Given the description of an element on the screen output the (x, y) to click on. 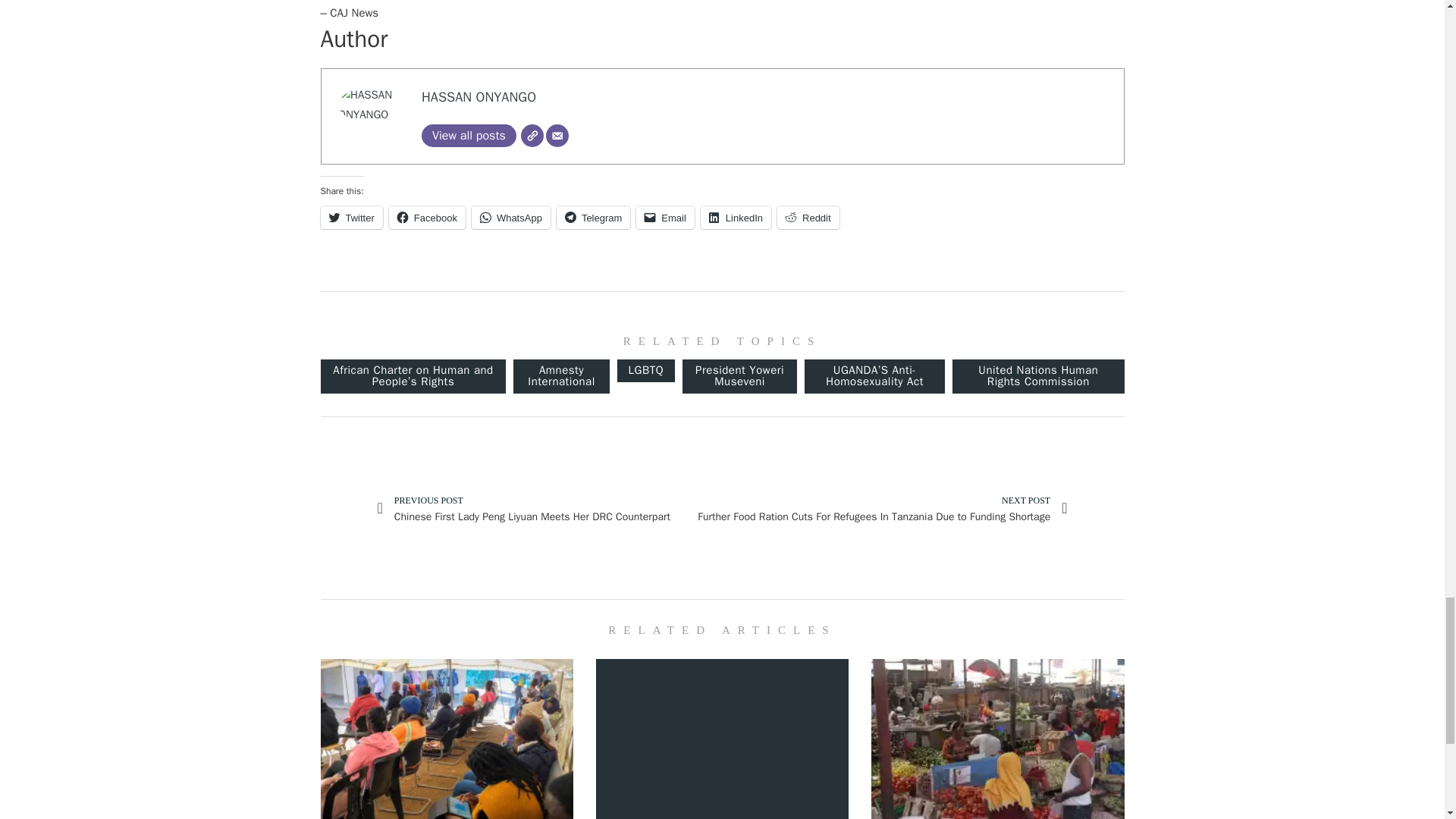
Click to share on LinkedIn (735, 217)
Click to share on WhatsApp (510, 217)
HASSAN ONYANGO (478, 96)
Click to share on Telegram (593, 217)
Click to share on Reddit (808, 217)
Click to share on Twitter (350, 217)
View all posts (469, 135)
Click to email a link to a friend (665, 217)
Click to share on Facebook (426, 217)
